Given the description of an element on the screen output the (x, y) to click on. 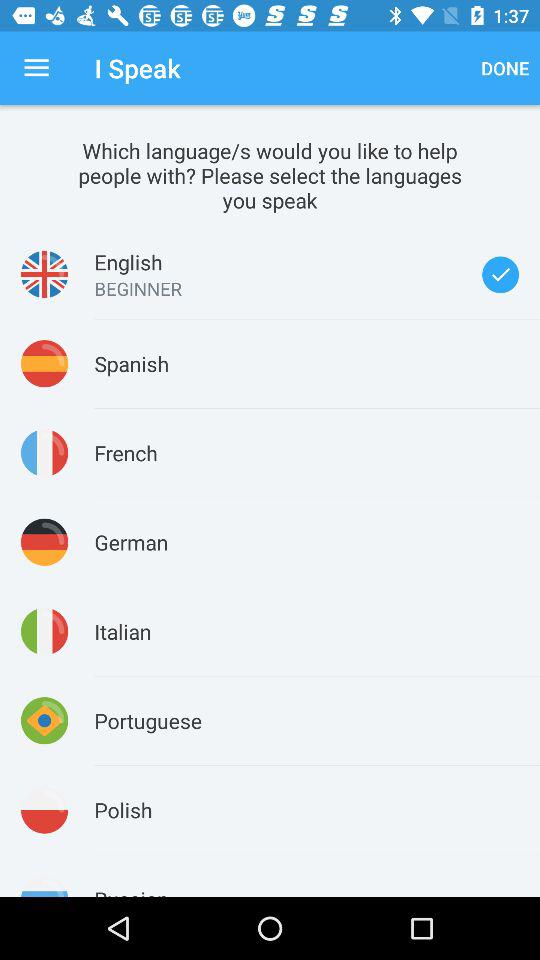
tap the done (505, 67)
